Given the description of an element on the screen output the (x, y) to click on. 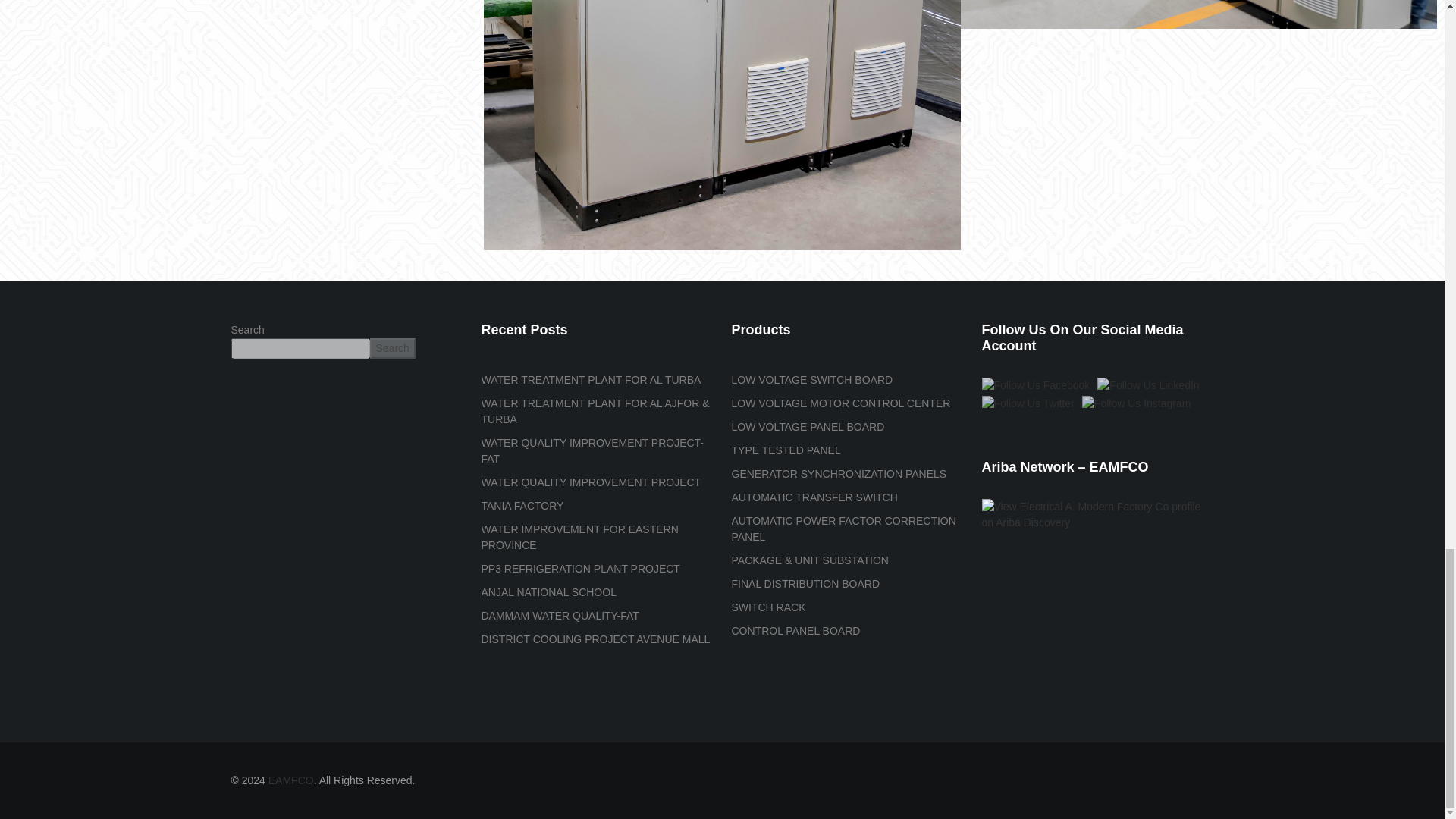
Search (391, 348)
Follow Us Twitter (1027, 403)
Follow Us LinkedIn (1147, 385)
Follow us on facebook (1035, 385)
Follow Us Instagram (1136, 403)
